Given the description of an element on the screen output the (x, y) to click on. 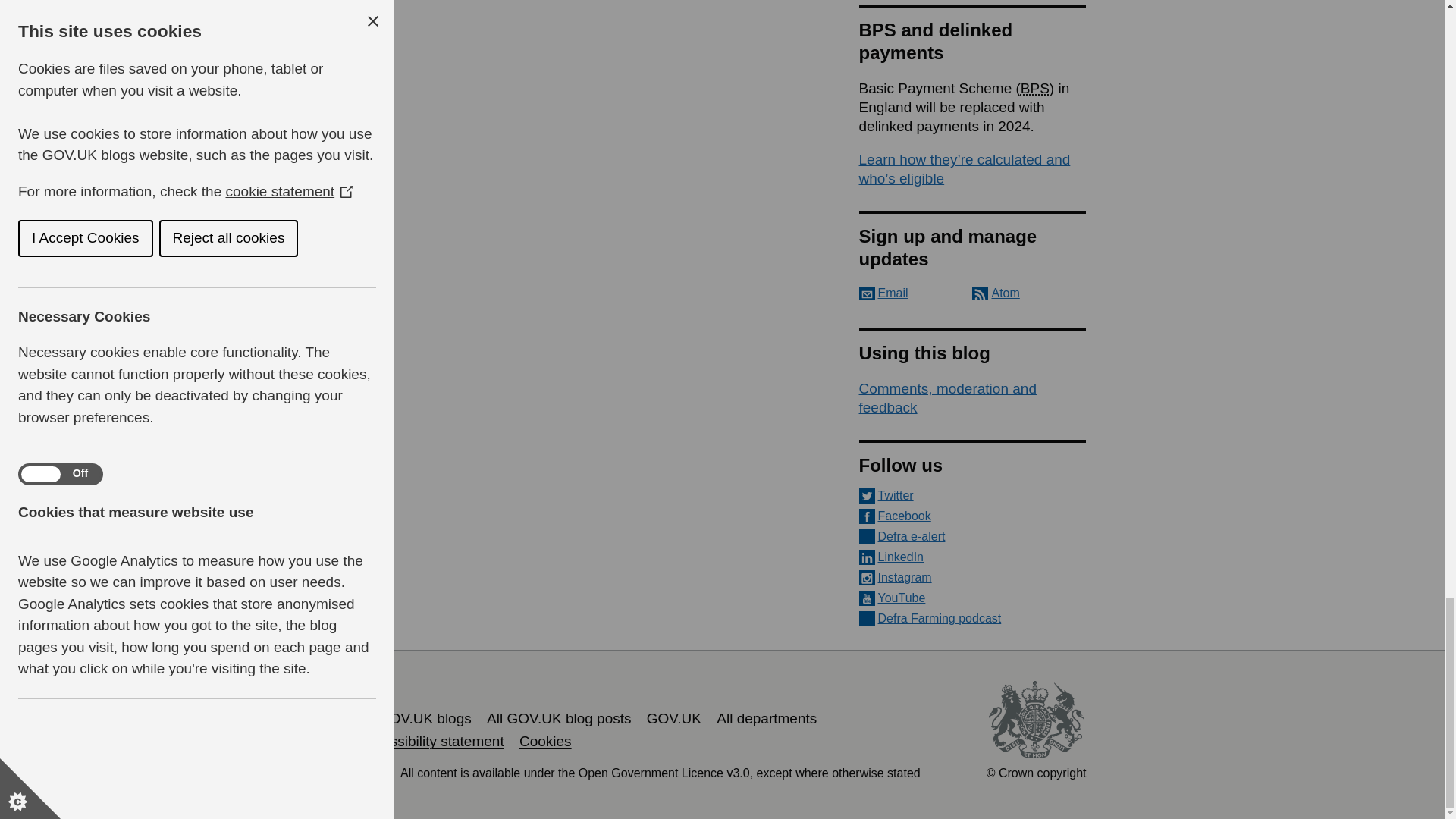
Defra e-alert (972, 536)
Instagram (972, 577)
All GOV.UK blogs (414, 718)
LinkedIn (972, 557)
GOV.UK (673, 718)
Twitter (972, 495)
Atom (995, 292)
All GOV.UK blog posts (558, 718)
Basic Payment Scheme (1034, 88)
All departments (766, 718)
